Given the description of an element on the screen output the (x, y) to click on. 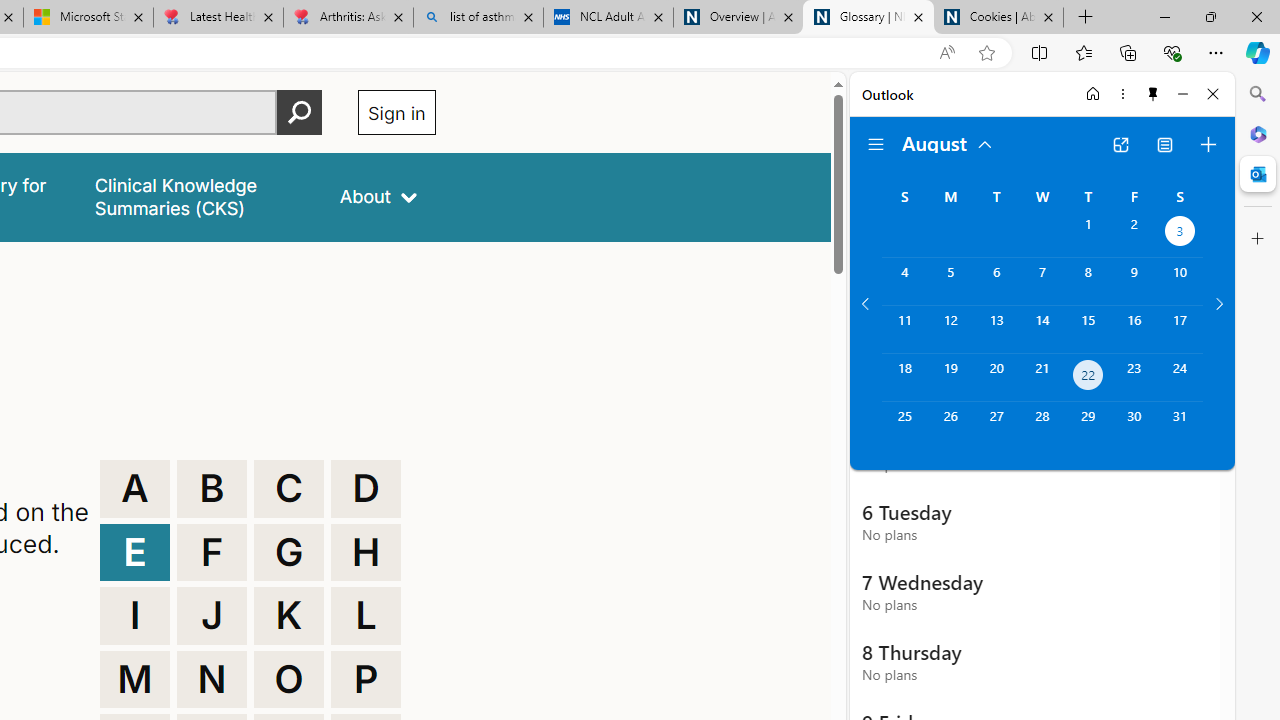
M (134, 679)
Thursday, August 29, 2024.  (1088, 425)
Unpin side pane (1153, 93)
H (365, 551)
P (365, 679)
Restore (1210, 16)
N (212, 679)
New Tab (1085, 17)
G (289, 551)
Friday, August 9, 2024.  (1134, 281)
Saturday, August 10, 2024.  (1180, 281)
Saturday, August 17, 2024.  (1180, 329)
Copilot (Ctrl+Shift+.) (1258, 52)
Add this page to favorites (Ctrl+D) (986, 53)
